Given the description of an element on the screen output the (x, y) to click on. 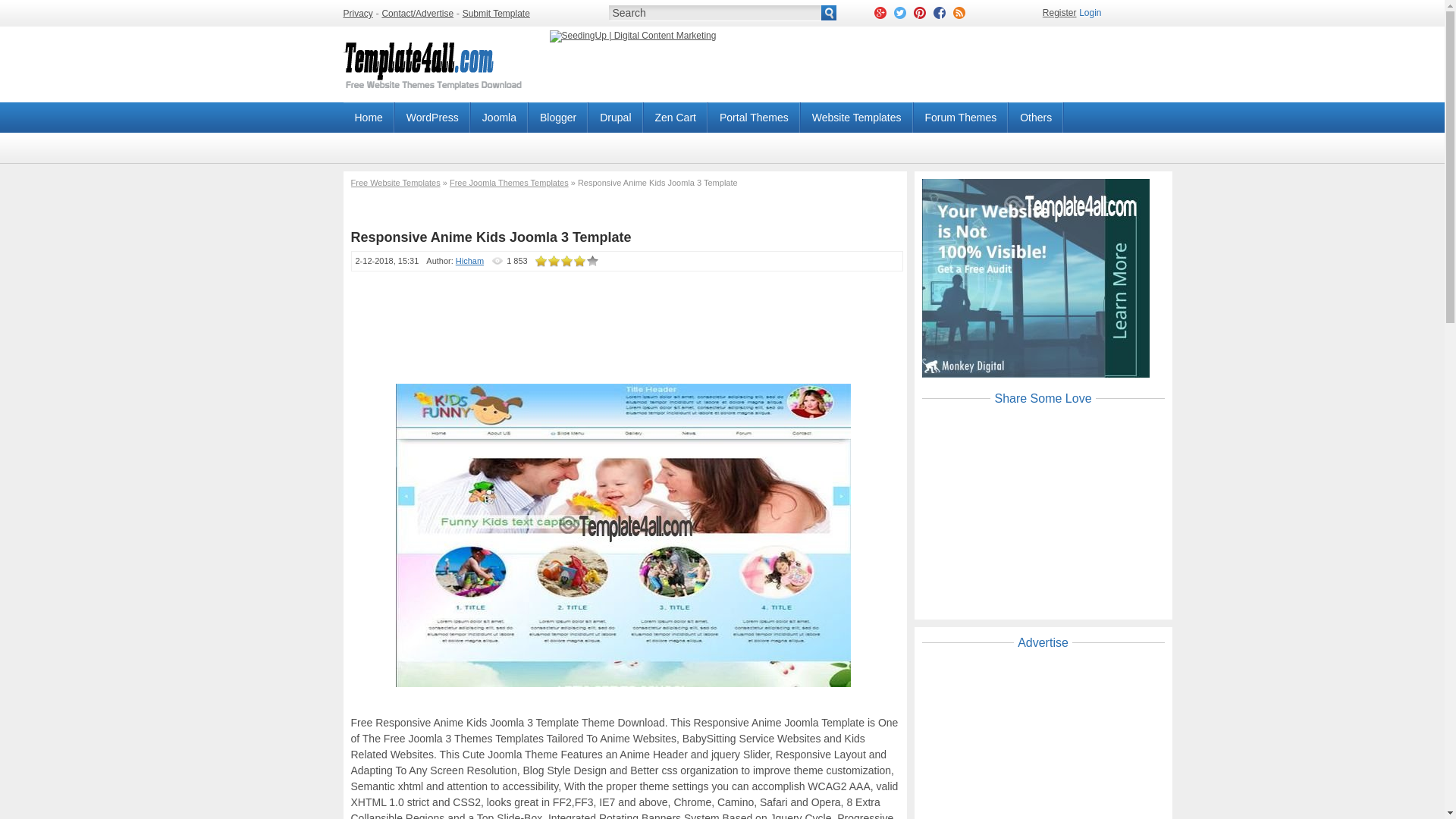
 Follow us On Twitter (899, 12)
Submit Template (496, 13)
Forum Themes (961, 117)
Register (1059, 12)
Drupal (615, 117)
Website Templates (857, 117)
Sign In (1089, 12)
Submit a template (496, 13)
Free Joomla Templates (499, 117)
Free Website Themes Templates Download (437, 99)
